Given the description of an element on the screen output the (x, y) to click on. 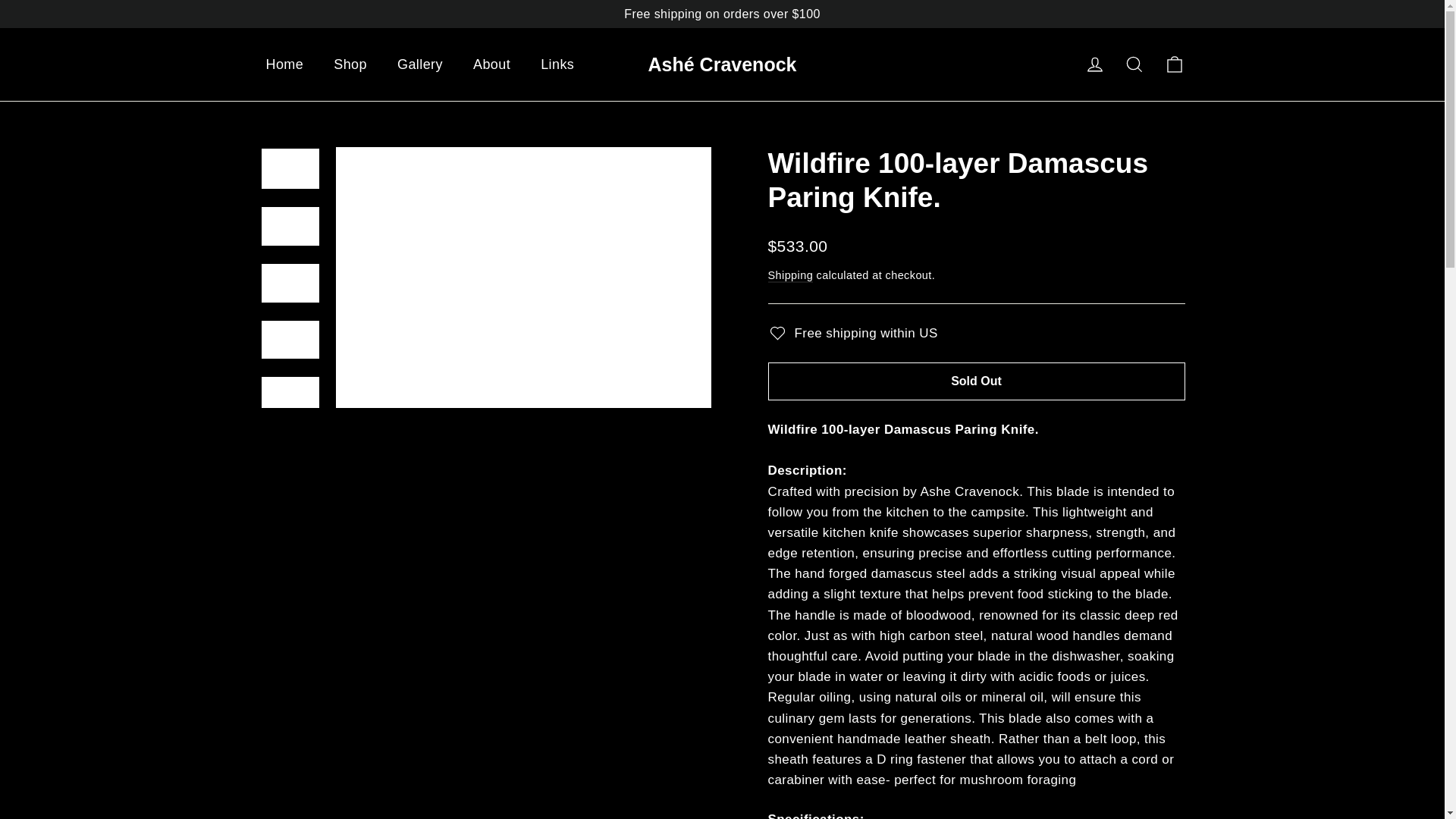
Links (557, 64)
Cart (1173, 63)
About (491, 64)
Search (1134, 63)
Log in (1095, 63)
Gallery (419, 64)
Home (284, 64)
Shop (349, 64)
